Given the description of an element on the screen output the (x, y) to click on. 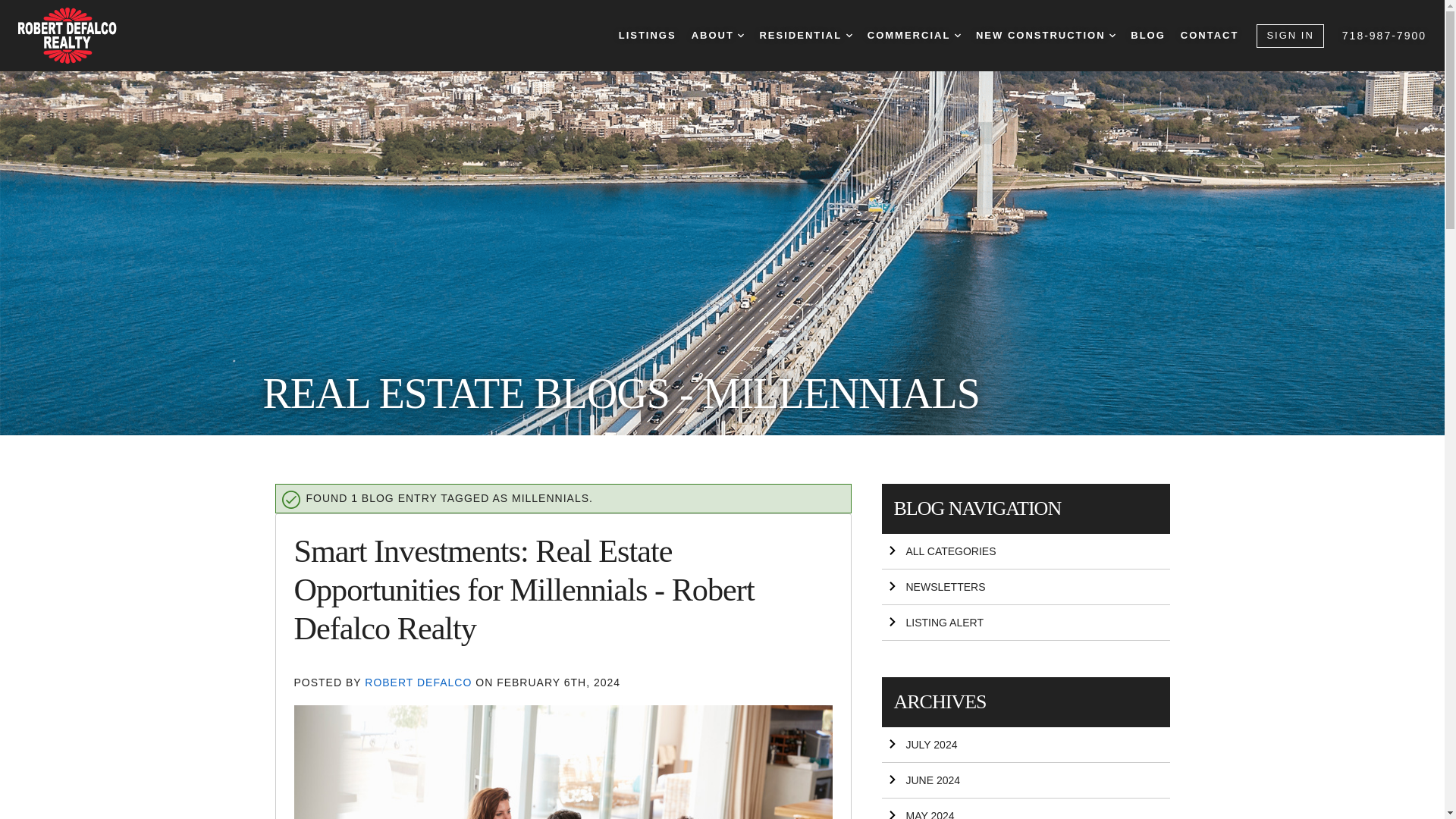
RESIDENTIAL DROPDOWN ARROW (804, 35)
DROPDOWN ARROW (1112, 35)
ABOUT DROPDOWN ARROW (717, 35)
CONTACT (1209, 35)
COMMERCIAL DROPDOWN ARROW (913, 35)
SIGN IN (1289, 35)
DROPDOWN ARROW (848, 35)
LISTINGS (647, 35)
DROPDOWN ARROW (741, 35)
BLOG (1148, 35)
DROPDOWN ARROW (957, 35)
NEW CONSTRUCTION DROPDOWN ARROW (1045, 35)
